Given the description of an element on the screen output the (x, y) to click on. 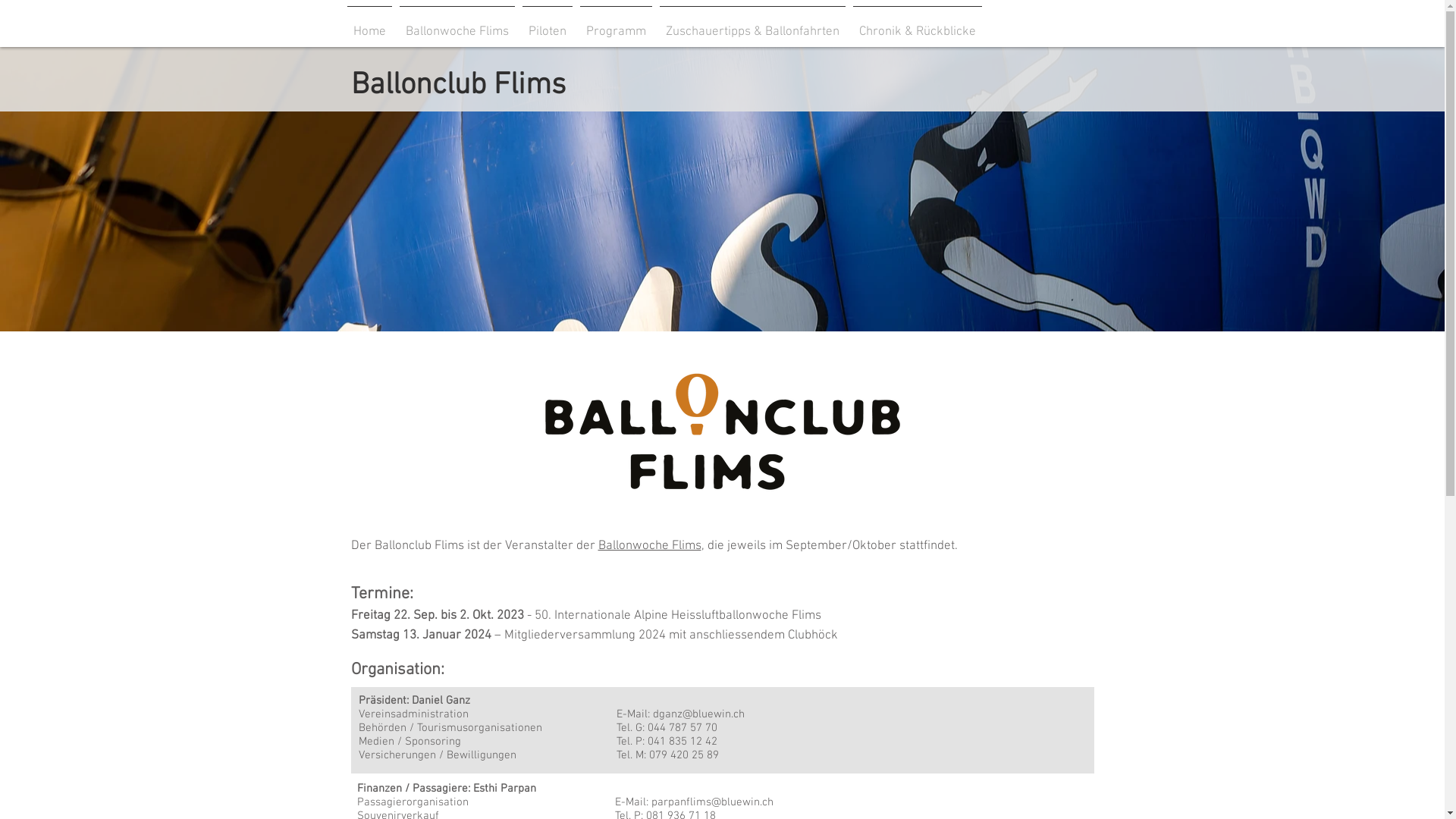
Ballonwoche Flims Element type: text (456, 24)
Zuschauertipps & Ballonfahrten Element type: text (751, 24)
parpanflims@bluewin.ch Element type: text (711, 802)
Piloten Element type: text (547, 24)
Programm Element type: text (615, 24)
dganz@bluewin.ch Element type: text (697, 714)
Home Element type: text (368, 24)
Ballonwoche Flims Element type: text (648, 545)
